Given the description of an element on the screen output the (x, y) to click on. 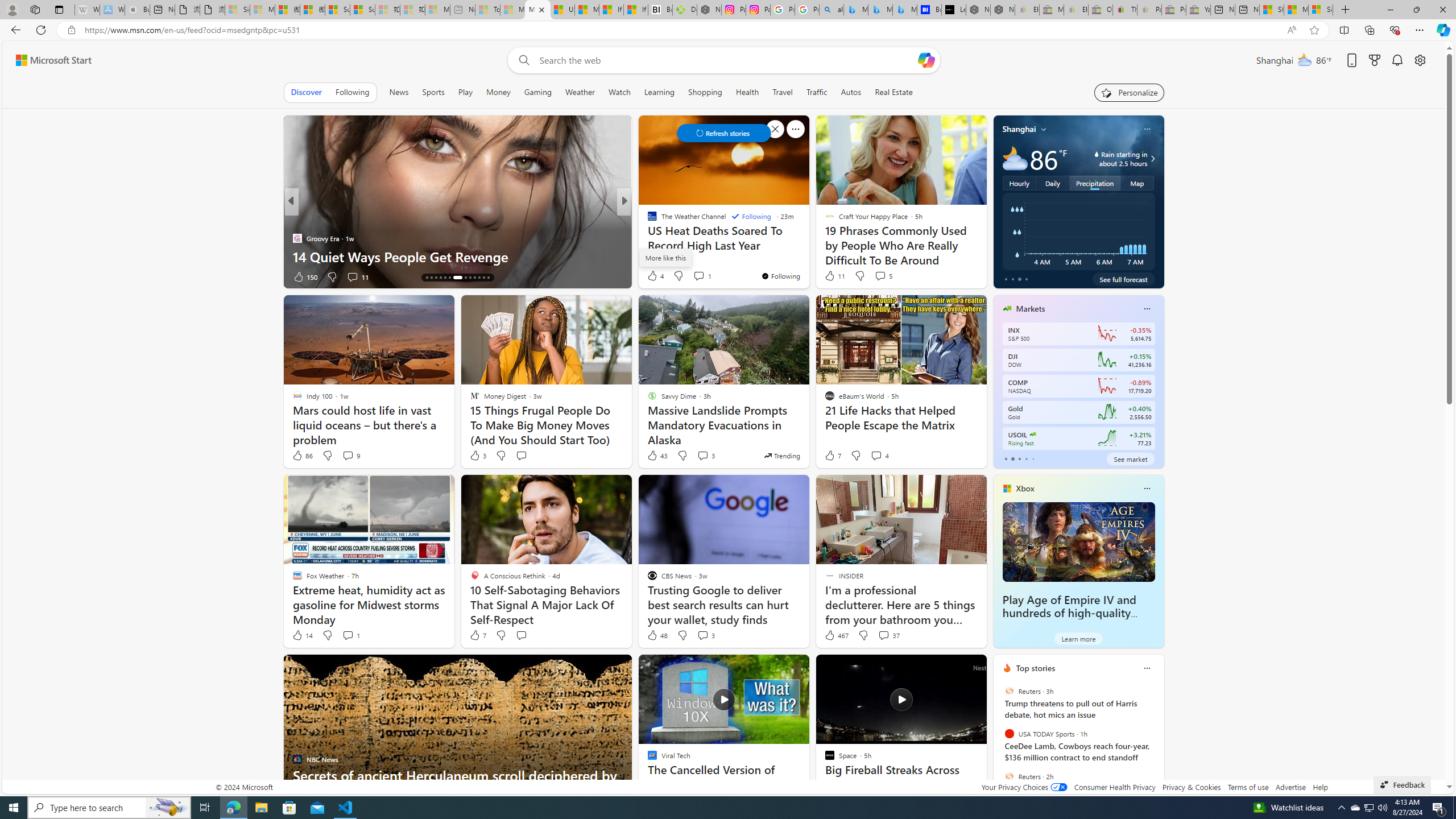
Microsoft Start (53, 60)
Top stories (1035, 668)
Class: icon-img (1146, 668)
38 Like (652, 276)
View comments 11 Comment (352, 276)
4 Like (655, 275)
Split screen (1344, 29)
Following (352, 92)
Watch (619, 92)
Money (498, 92)
AutomationID: tab-25 (483, 277)
View comments 35 Comment (703, 276)
